Given the description of an element on the screen output the (x, y) to click on. 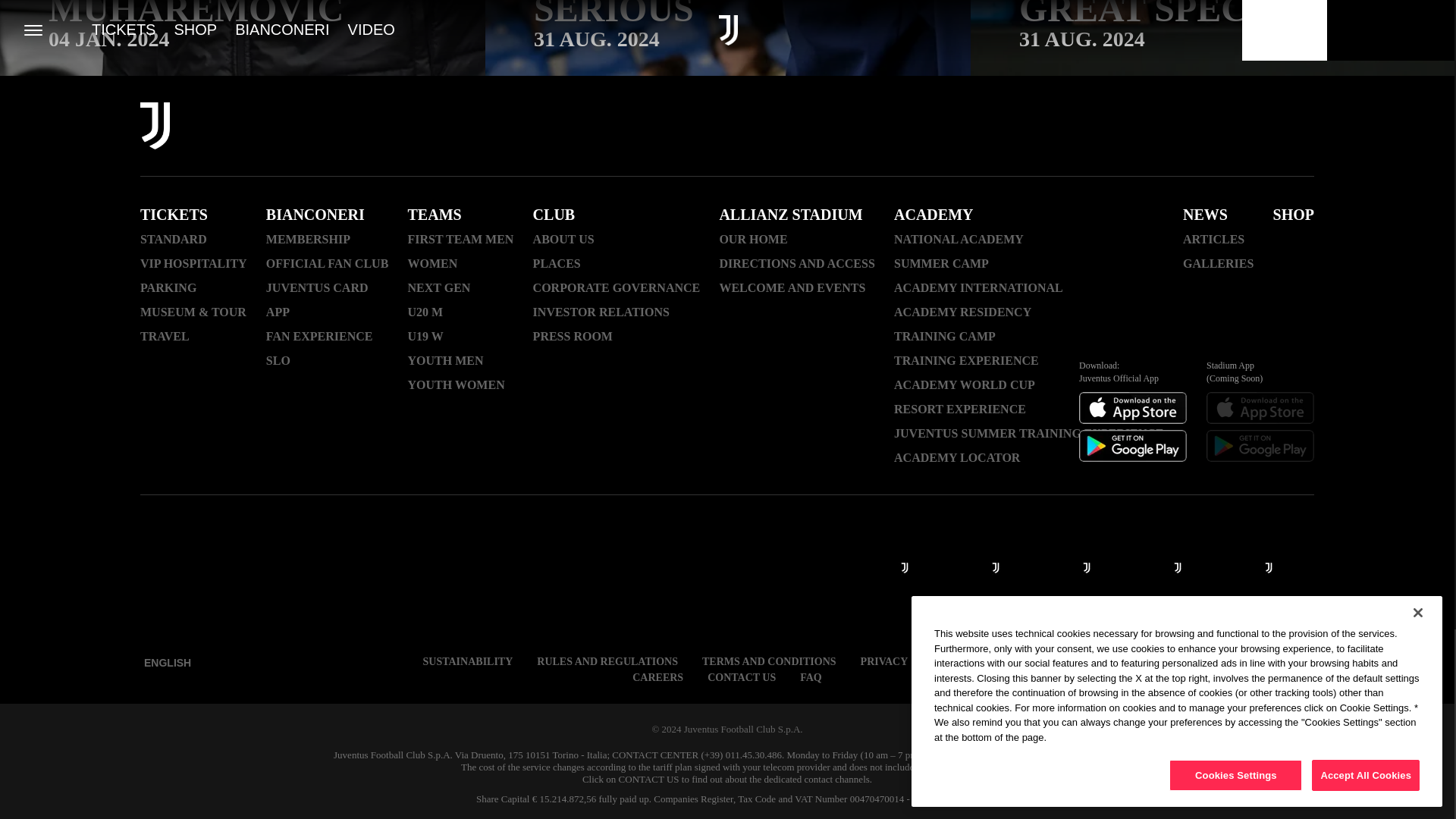
Facebook (1025, 128)
Instagram (1064, 128)
Threads (1104, 128)
